Given the description of an element on the screen output the (x, y) to click on. 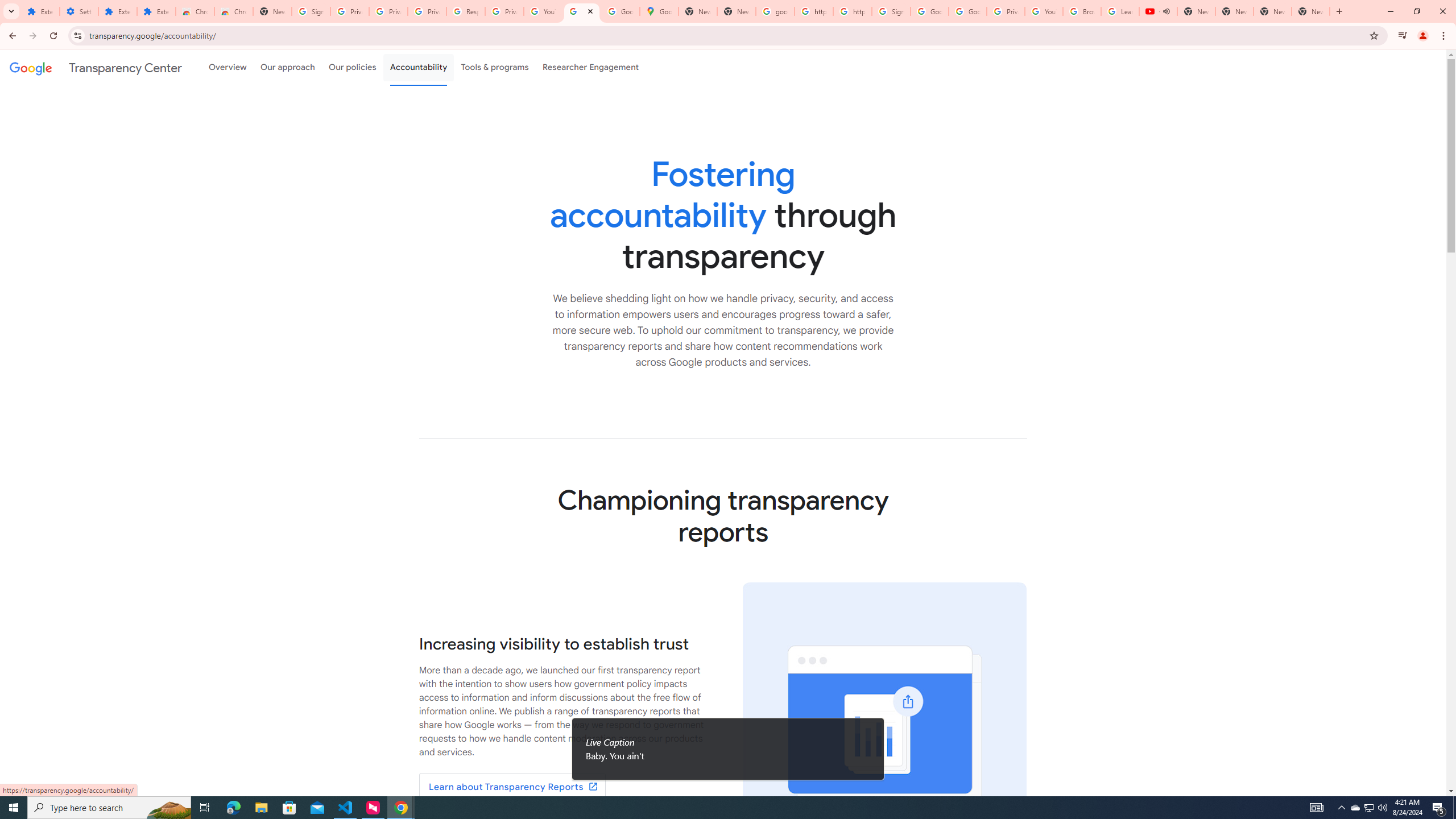
Chrome Web Store (194, 11)
New Tab (1311, 11)
Chrome Web Store - Themes (233, 11)
Go to Transparency Report About web page (512, 786)
Our policies (351, 67)
https://scholar.google.com/ (813, 11)
Extensions (117, 11)
Sign in - Google Accounts (310, 11)
